Given the description of an element on the screen output the (x, y) to click on. 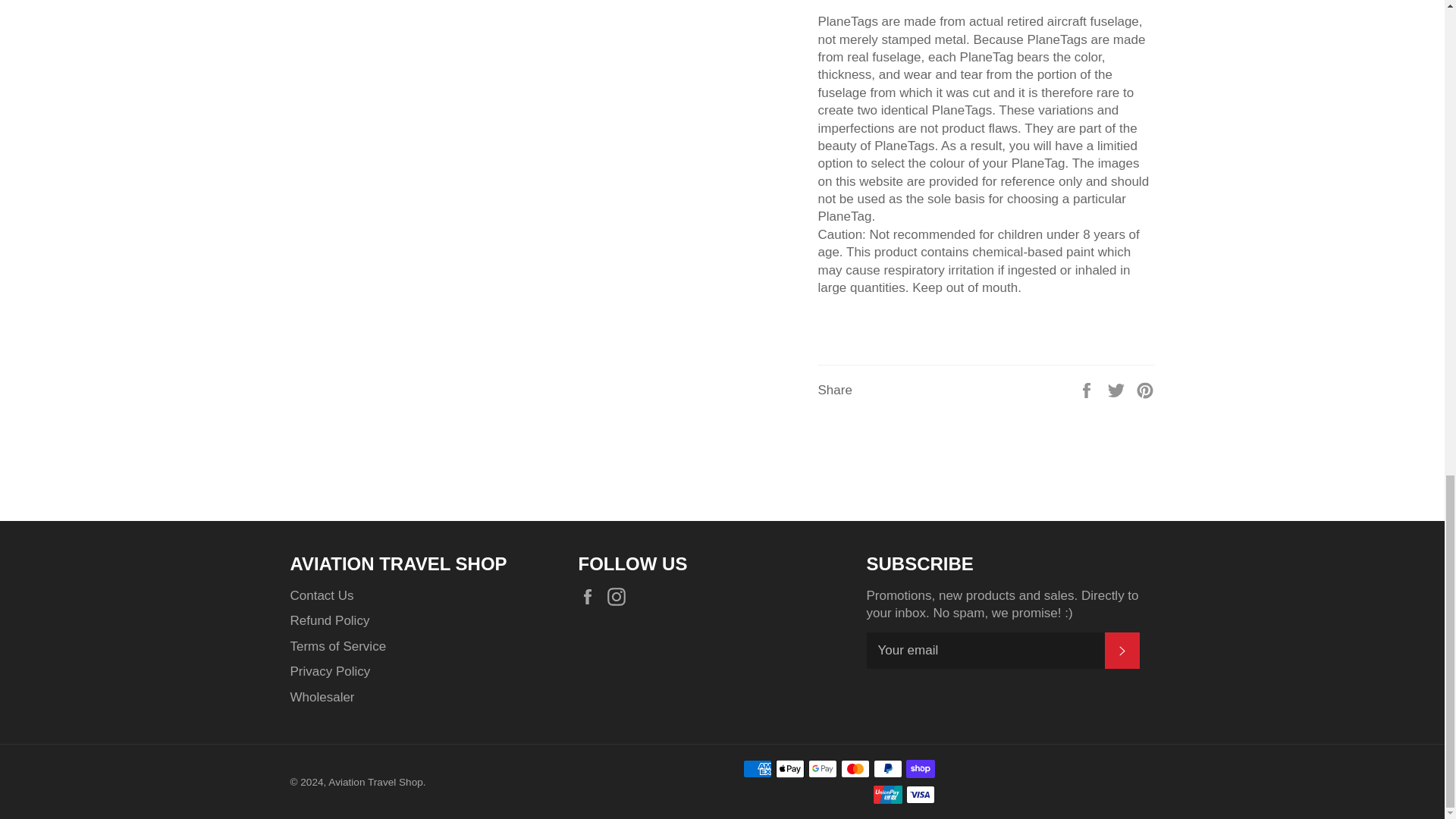
Tweet on Twitter (1117, 389)
Pin on Pinterest (1144, 389)
Share on Facebook (1088, 389)
Aviation Travel Shop on Facebook (591, 596)
Aviation Travel Shop on Instagram (620, 596)
